Given the description of an element on the screen output the (x, y) to click on. 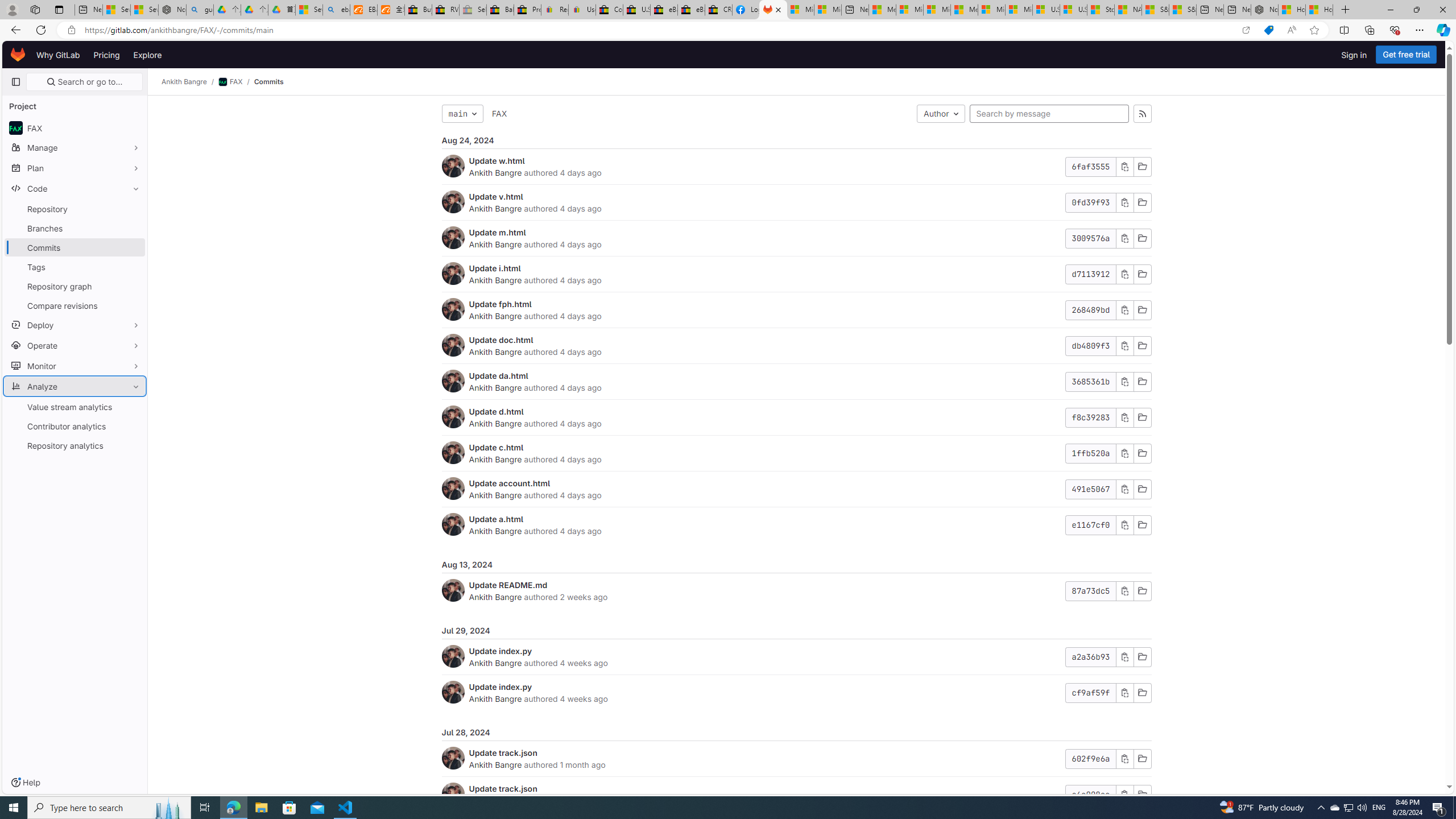
Shopping in Microsoft Edge (1268, 29)
Operate (74, 344)
Ankith Bangre/ (189, 81)
Compare revisions (74, 305)
Ankith Bangre's avatar (452, 793)
Sign in (1353, 54)
Update track.jsonAnkith Bangre authored 1 month ago602f9e6a (796, 759)
Microsoft account | Home (936, 9)
Tags (74, 266)
Update fph.html (499, 303)
Update c.htmlAnkith Bangre authored 4 days ago1ffb520a (796, 453)
Contributor analytics (74, 425)
